Given the description of an element on the screen output the (x, y) to click on. 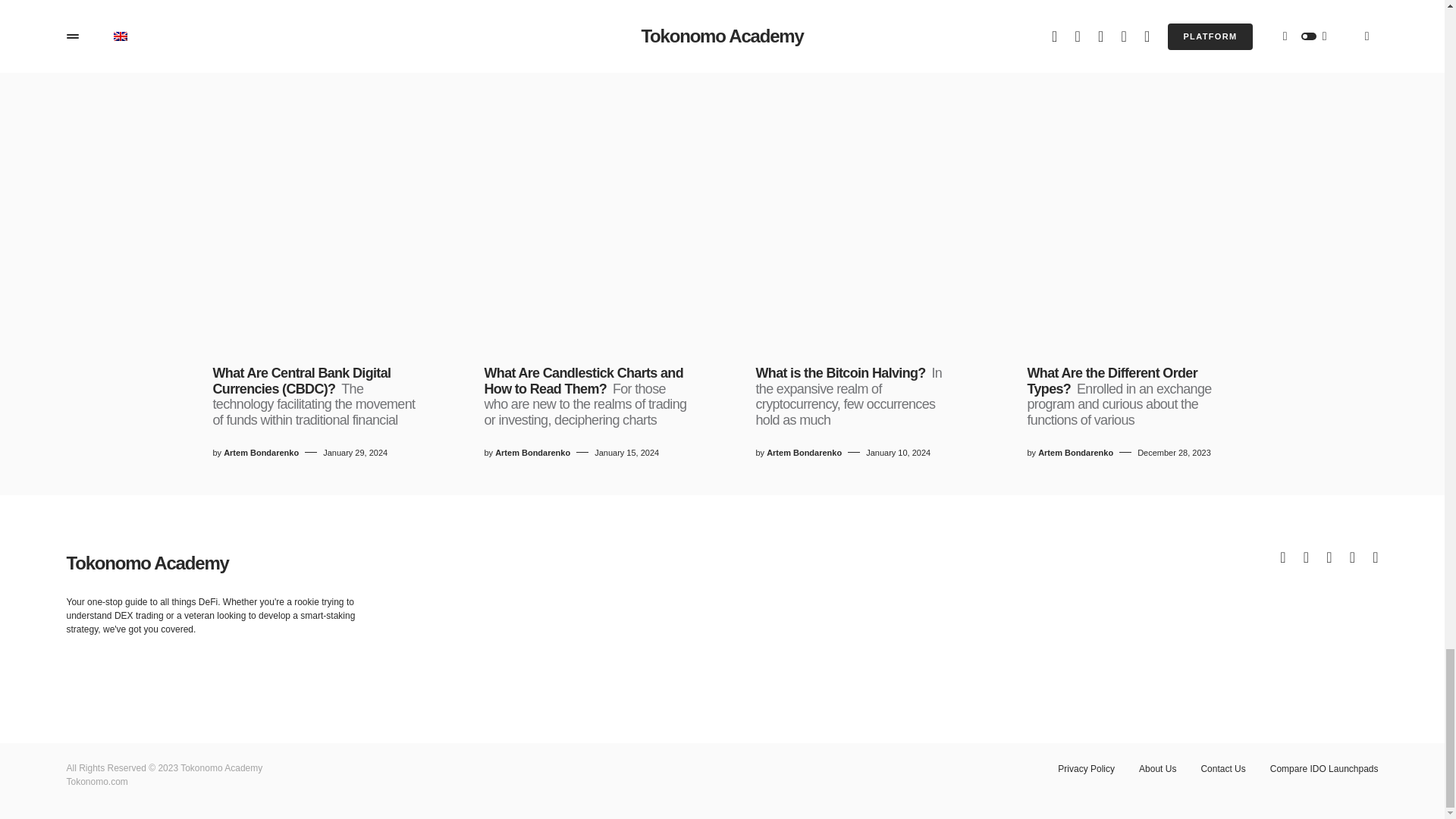
View all posts by Artem Bondarenko (532, 452)
View all posts by Artem Bondarenko (804, 452)
View all posts by Artem Bondarenko (261, 452)
View all posts by Artem Bondarenko (1075, 452)
